Given the description of an element on the screen output the (x, y) to click on. 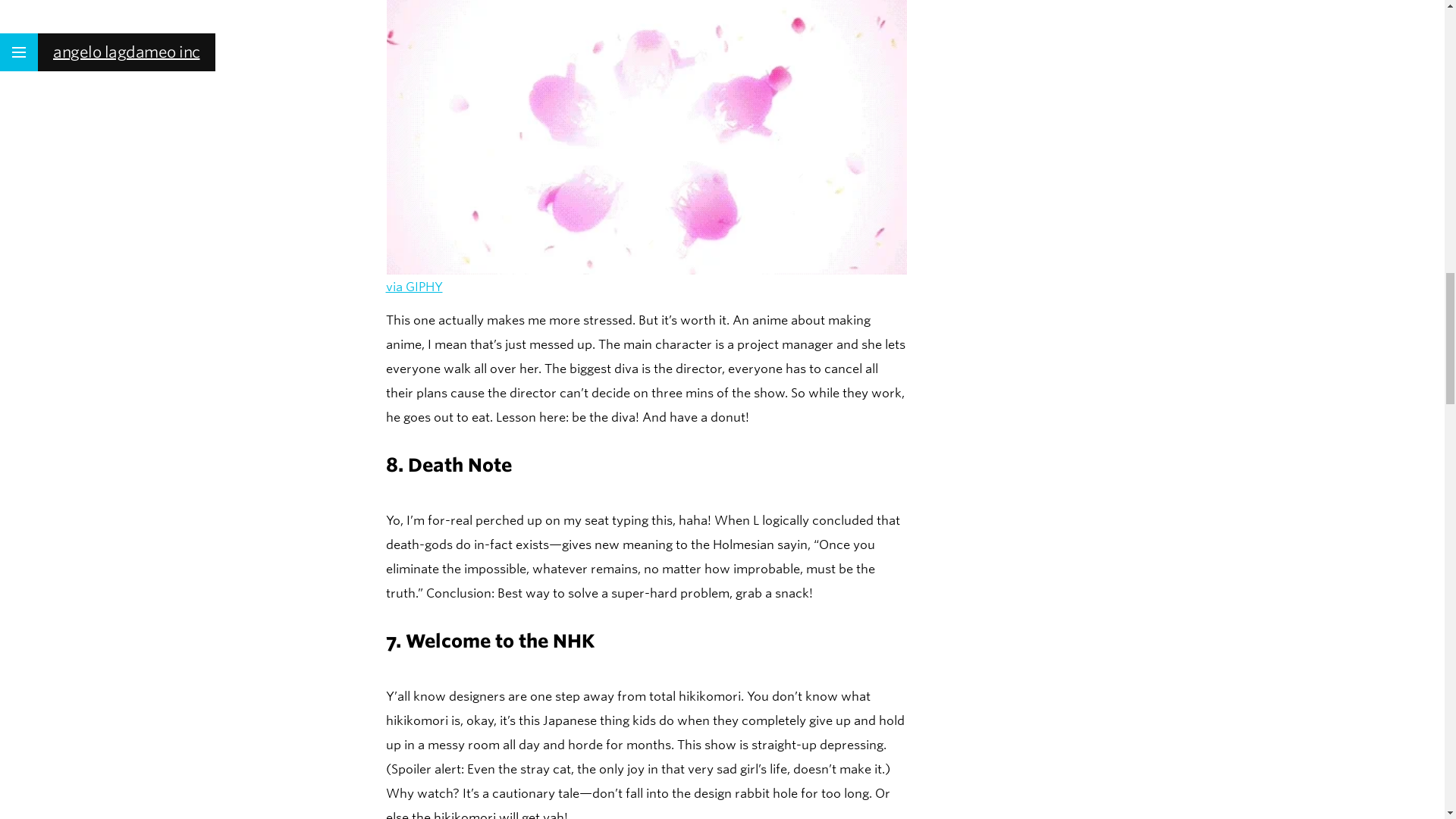
via GIPHY (413, 287)
